Given the description of an element on the screen output the (x, y) to click on. 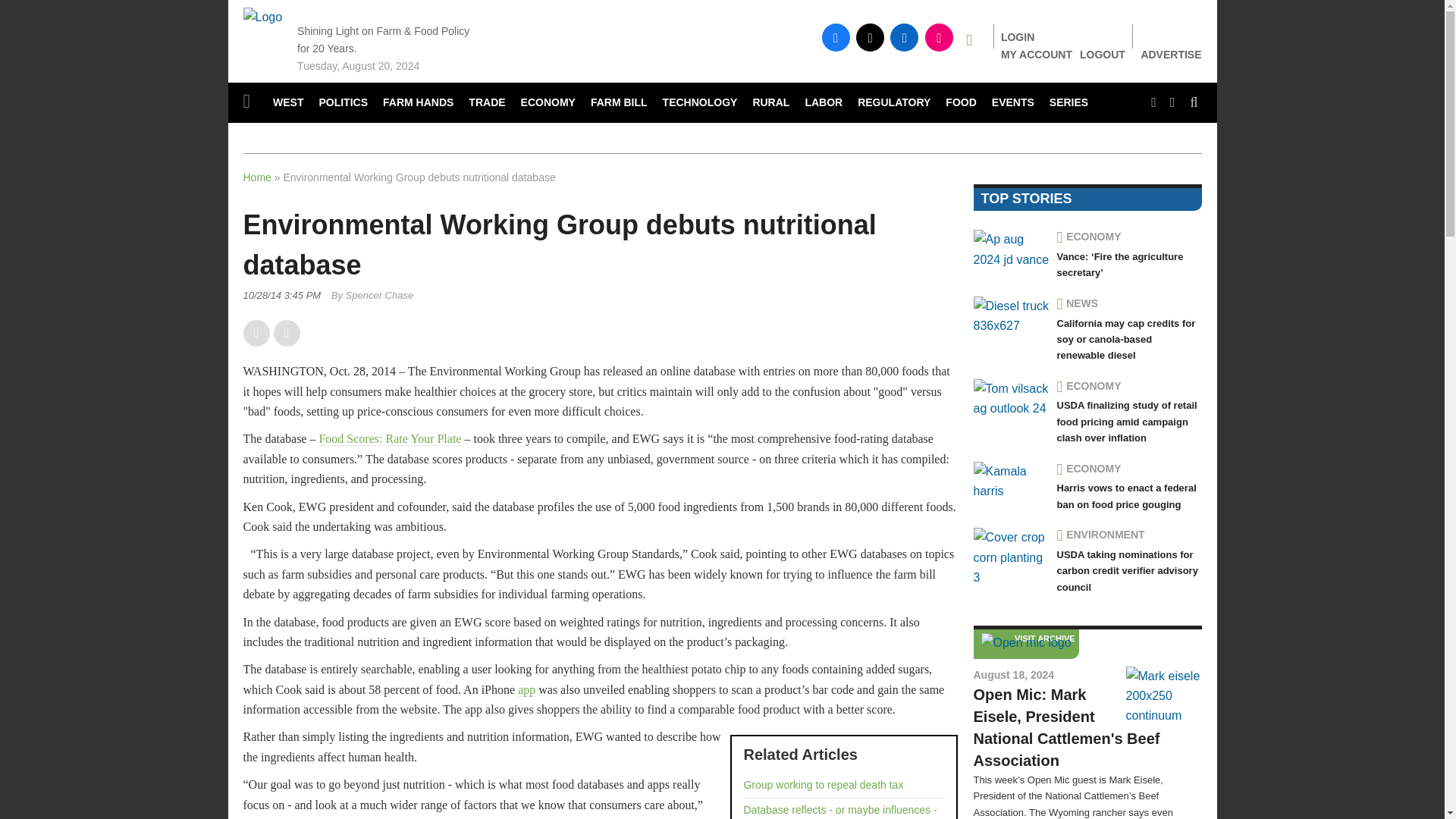
WEST (287, 102)
REGULATORY (893, 102)
LOGIN (1017, 37)
FARM BILL (619, 102)
FOOD (960, 102)
ECONOMY (548, 102)
ADVERTISE (1170, 54)
TRADE (486, 102)
TECHNOLOGY (700, 102)
LABOR (823, 102)
